Given the description of an element on the screen output the (x, y) to click on. 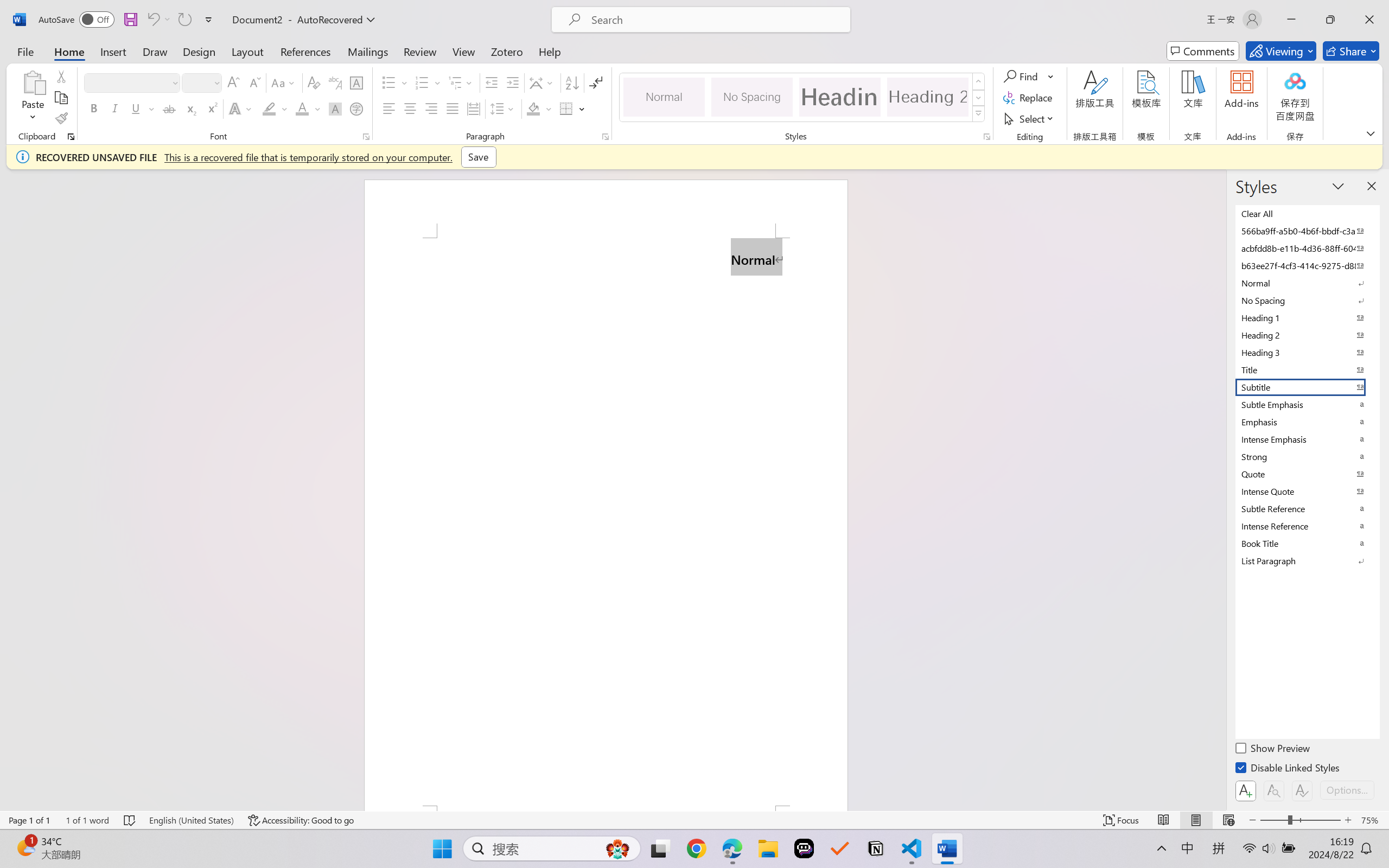
Shrink Font (253, 82)
Subscript (190, 108)
Align Left (388, 108)
Class: MsoCommandBar (694, 819)
b63ee27f-4cf3-414c-9275-d88e3f90795e (1306, 265)
Quote (1306, 473)
Character Shading (334, 108)
Format Painter (60, 118)
Bold (94, 108)
